Given the description of an element on the screen output the (x, y) to click on. 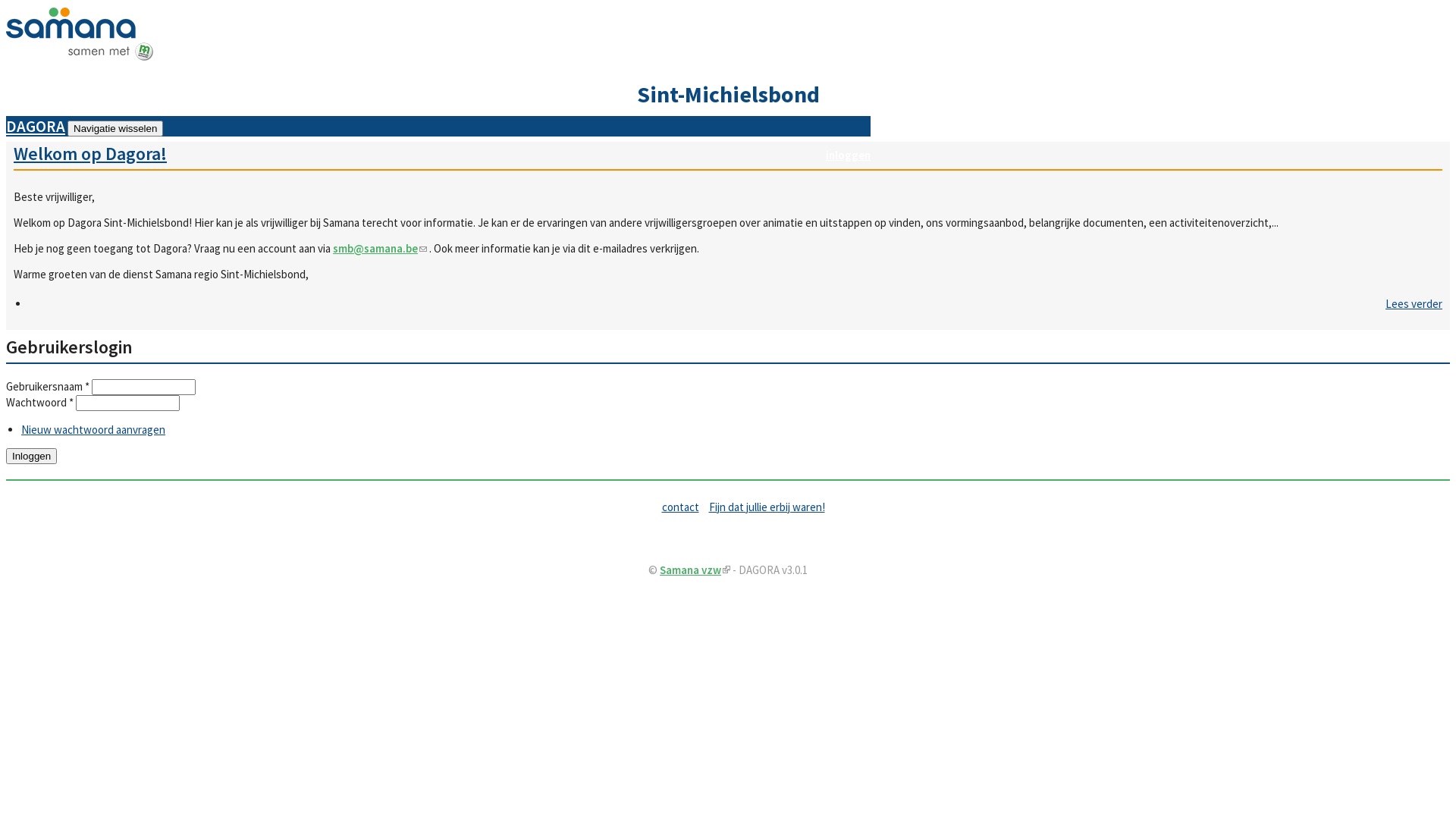
Samana vzw Element type: text (694, 569)
Overslaan en naar de inhoud gaan Element type: text (6, 7)
Lees verder
over Welkom op Dagora! Element type: text (1413, 303)
Welkom op Dagora! Element type: text (89, 153)
DAGORA Element type: text (35, 121)
Navigatie wisselen Element type: text (115, 128)
inloggen Element type: text (847, 154)
contact Element type: text (680, 506)
Fijn dat jullie erbij waren! Element type: text (766, 506)
Nieuw wachtwoord aanvragen Element type: text (93, 429)
Inloggen Element type: text (31, 456)
smb@samana.be Element type: text (379, 248)
Home Element type: hover (79, 57)
